Given the description of an element on the screen output the (x, y) to click on. 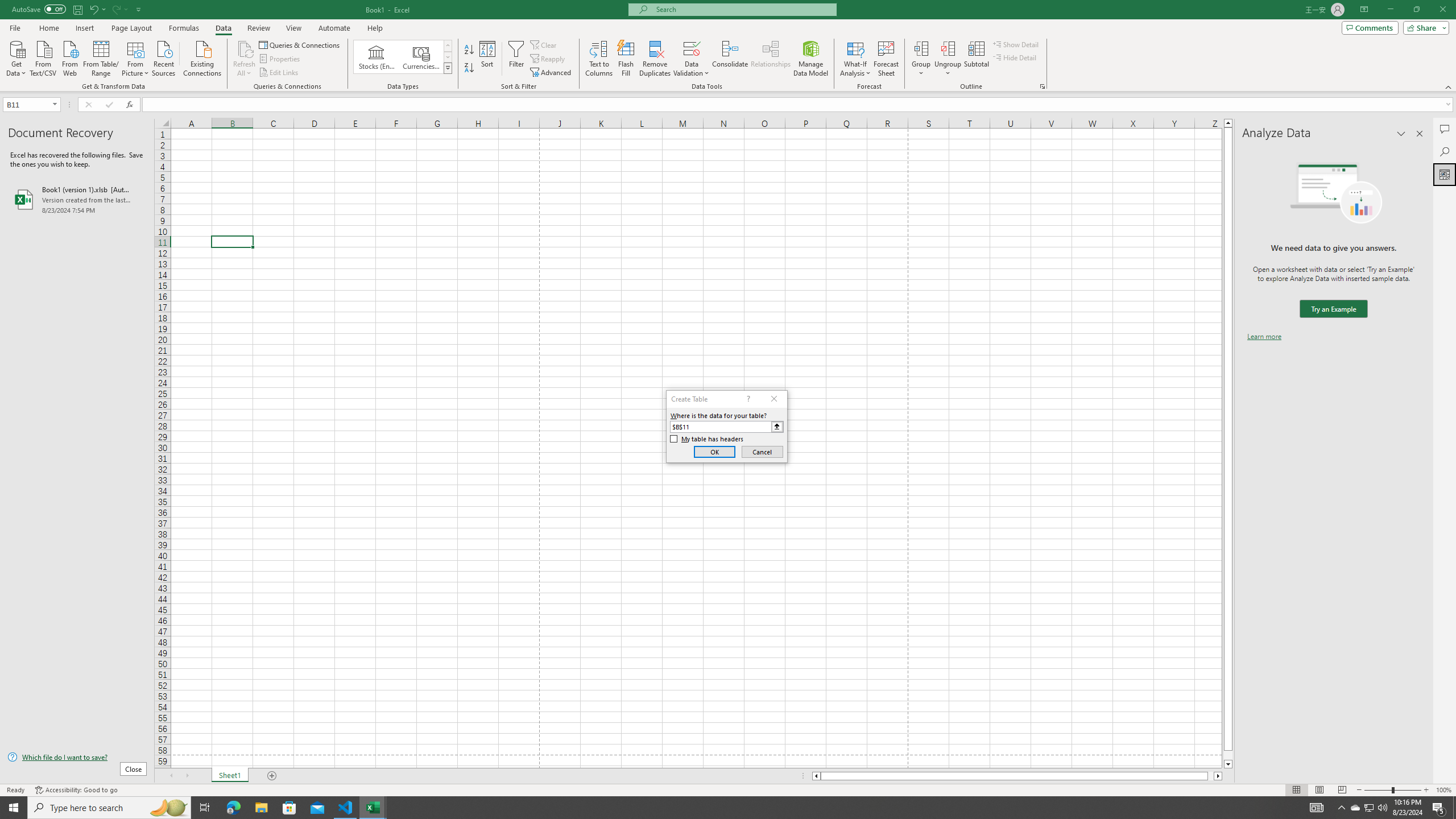
Manage Data Model (810, 58)
